Given the description of an element on the screen output the (x, y) to click on. 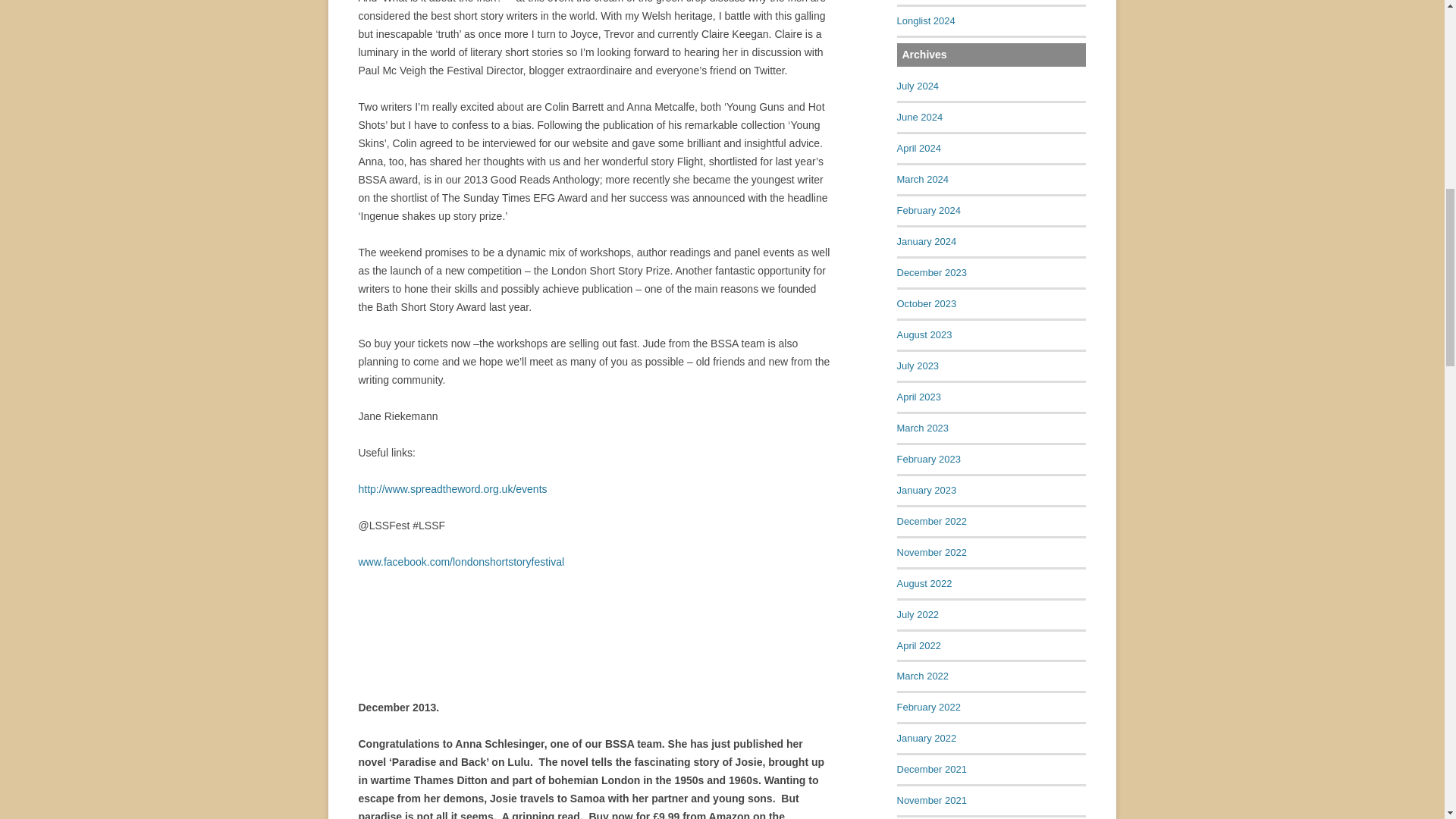
March 2024 (922, 179)
April 2024 (918, 147)
Longlist 2024 (925, 20)
July 2024 (917, 85)
June 2024 (919, 116)
